Given the description of an element on the screen output the (x, y) to click on. 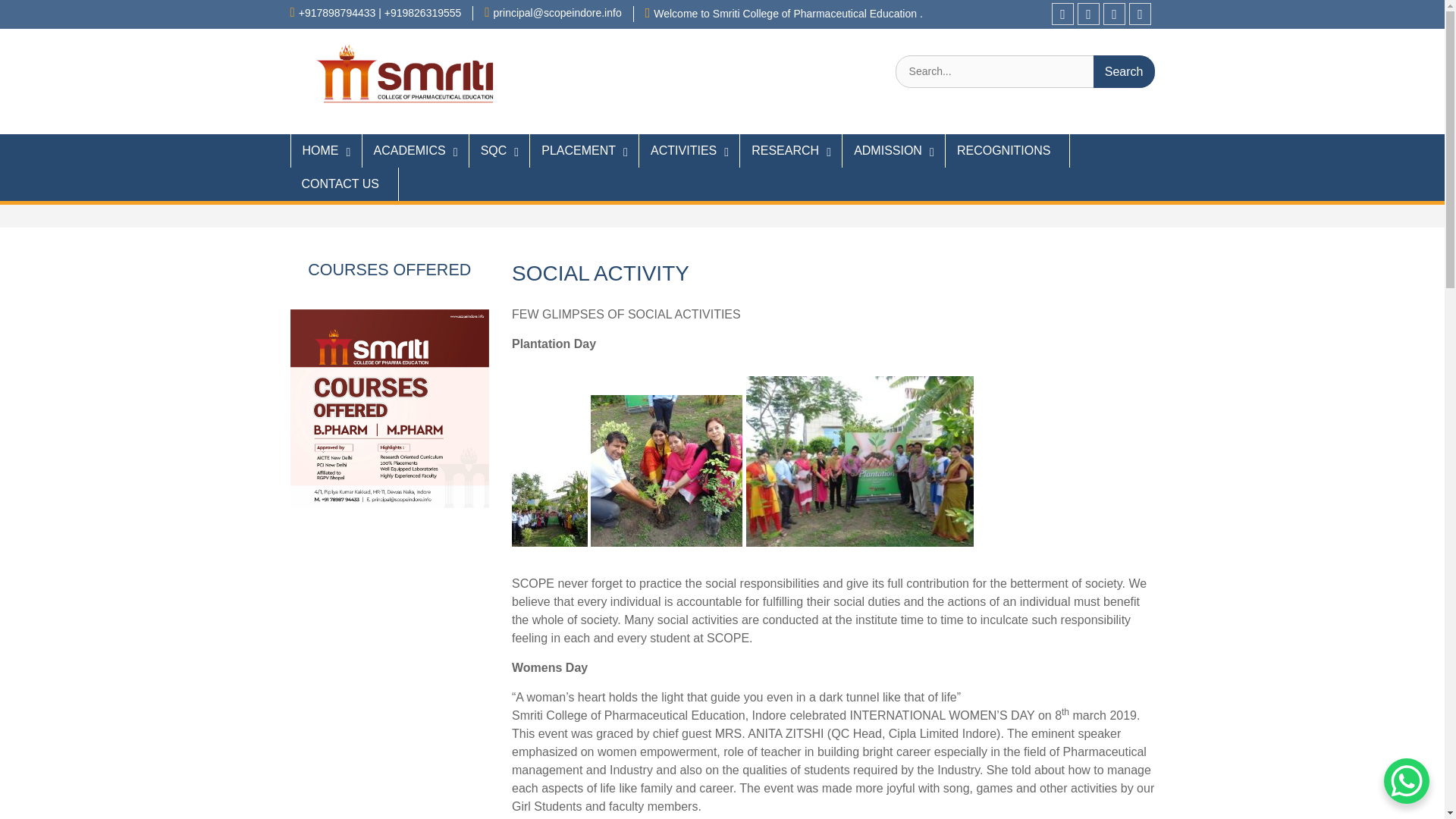
PLACEMENT (584, 150)
Instagram (1088, 14)
Search (1123, 71)
Twitter (1114, 14)
Facebook (1062, 14)
ACTIVITIES (689, 150)
ACADEMICS (415, 150)
Search (1123, 71)
Search for: (1024, 71)
Search (1123, 71)
SQC (499, 150)
LinkedIn (1140, 14)
HOME (325, 150)
